Given the description of an element on the screen output the (x, y) to click on. 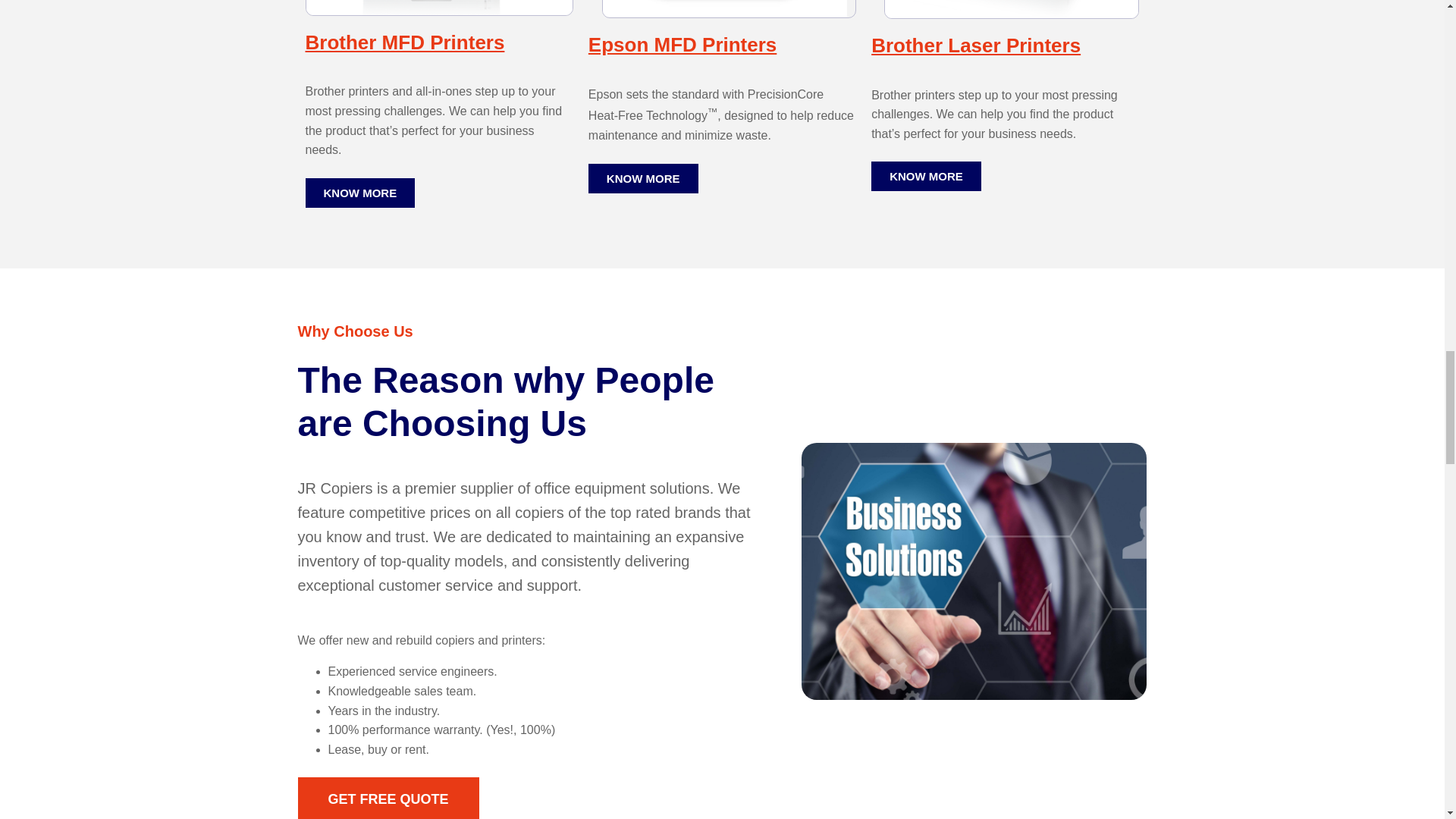
Epson MFD Printers (682, 44)
Brother Laser Printers (975, 45)
Brother MFD Printers (403, 42)
KNOW MORE (643, 178)
GET FREE QUOTE (388, 798)
Epson MFD Printer USA (729, 9)
KNOW MORE (359, 193)
KNOW MORE (925, 175)
Brother Printer (1010, 9)
